Given the description of an element on the screen output the (x, y) to click on. 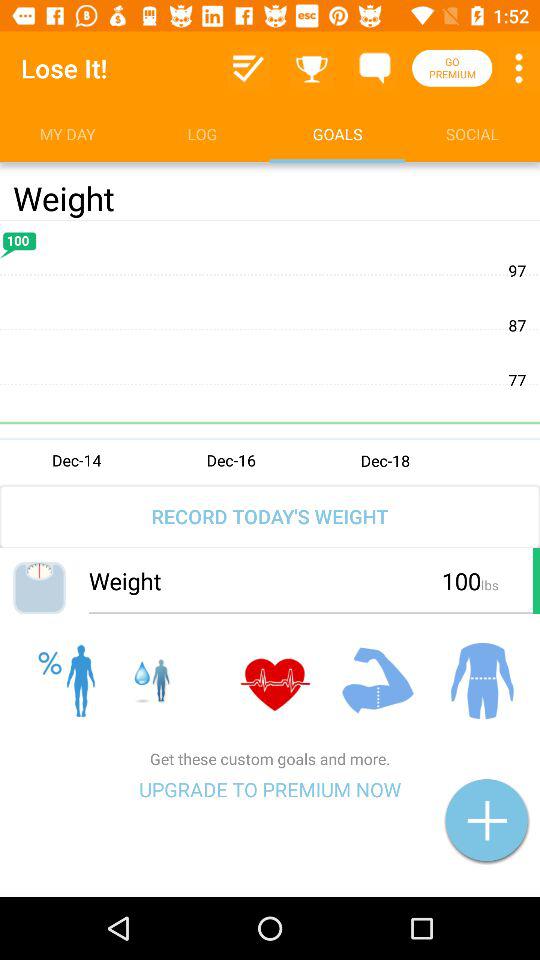
toggle more menu options (519, 68)
